Given the description of an element on the screen output the (x, y) to click on. 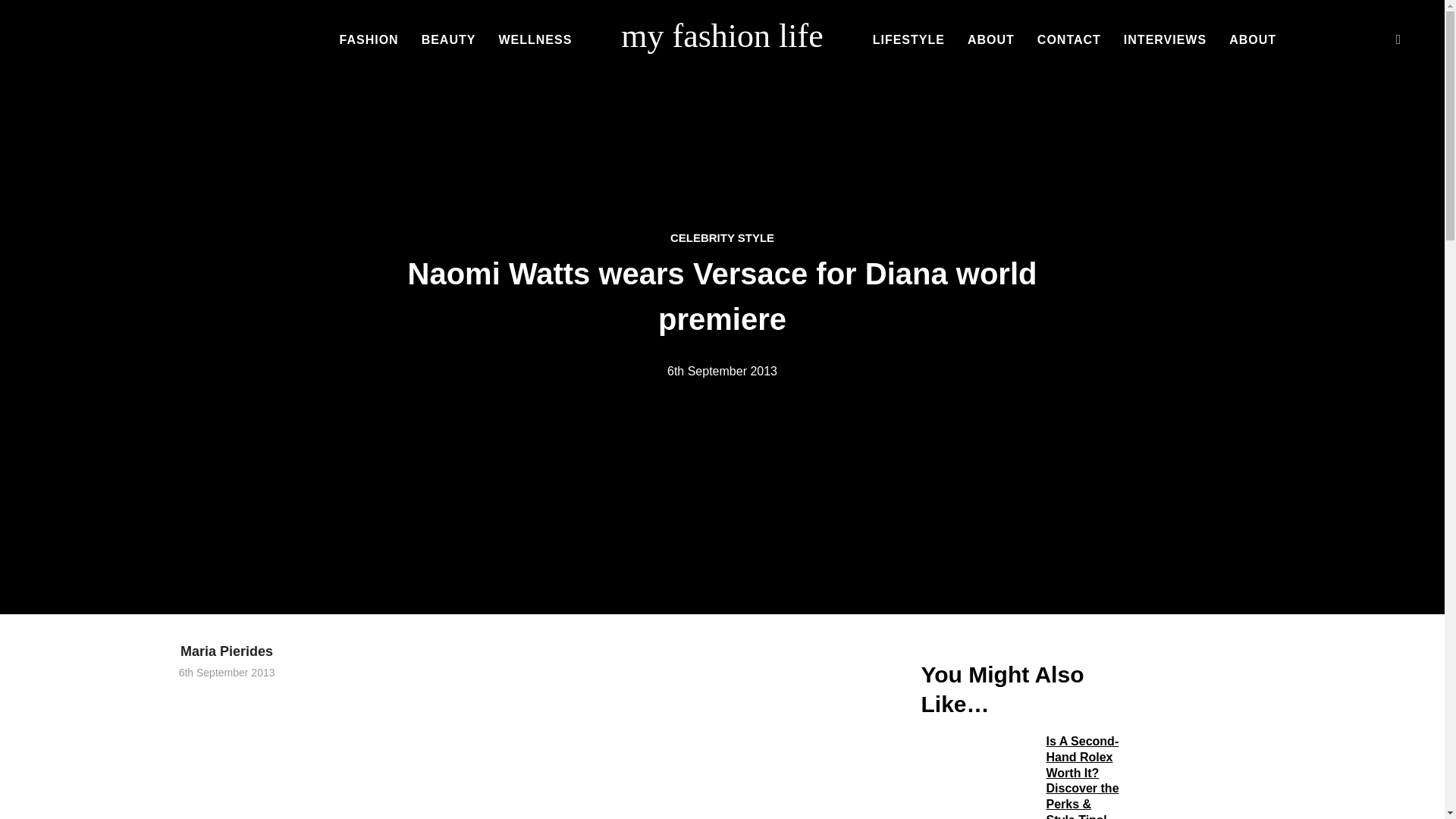
my fashion life (721, 35)
FASHION (368, 40)
LIFESTYLE (908, 40)
WELLNESS (534, 40)
Posts by Maria Pierides (227, 651)
Fashion, Celebrities, Beauty, Food, Travel, Lifestyle (721, 35)
BEAUTY (449, 40)
